Given the description of an element on the screen output the (x, y) to click on. 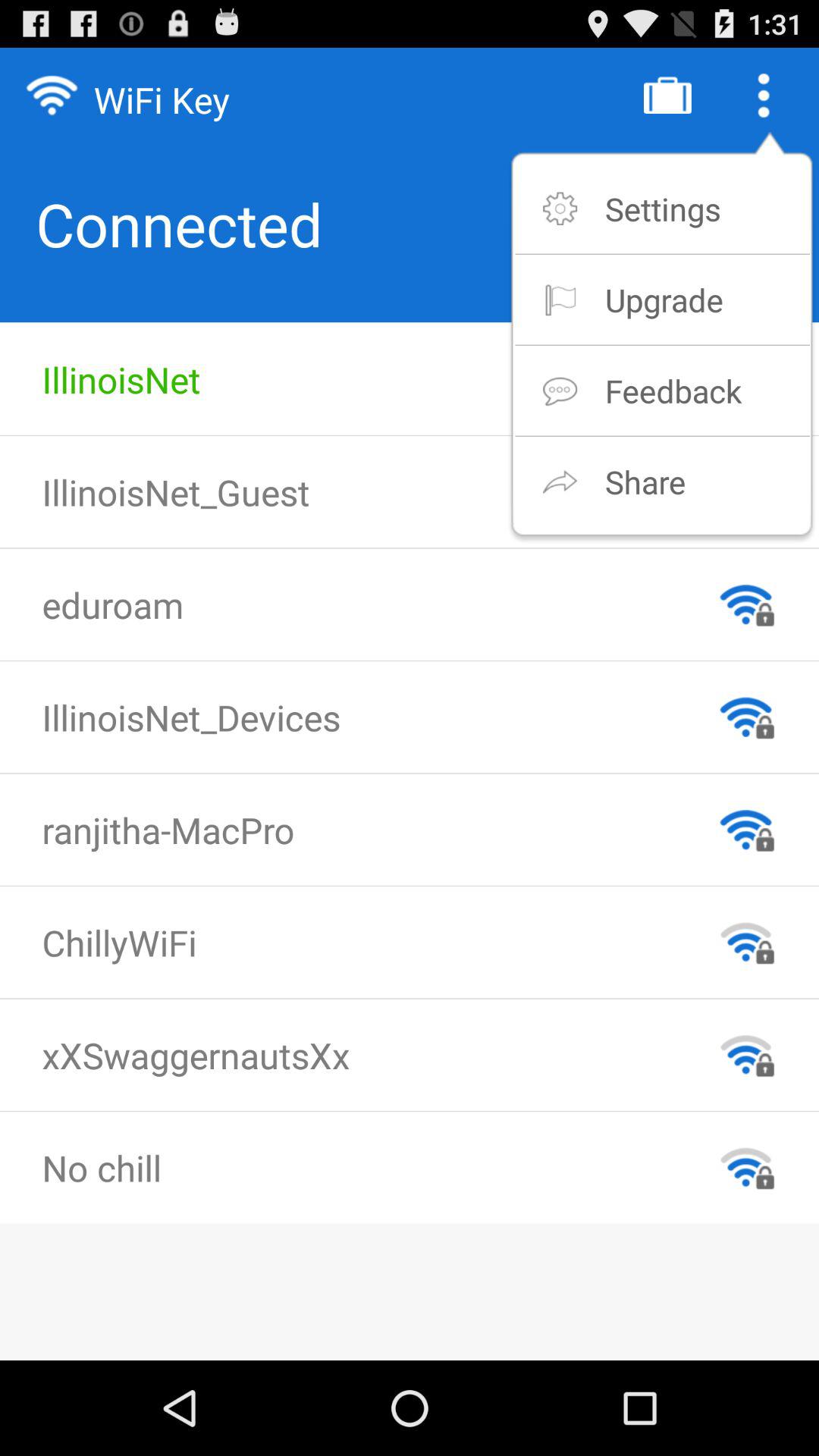
turn on the upgrade icon (664, 299)
